Given the description of an element on the screen output the (x, y) to click on. 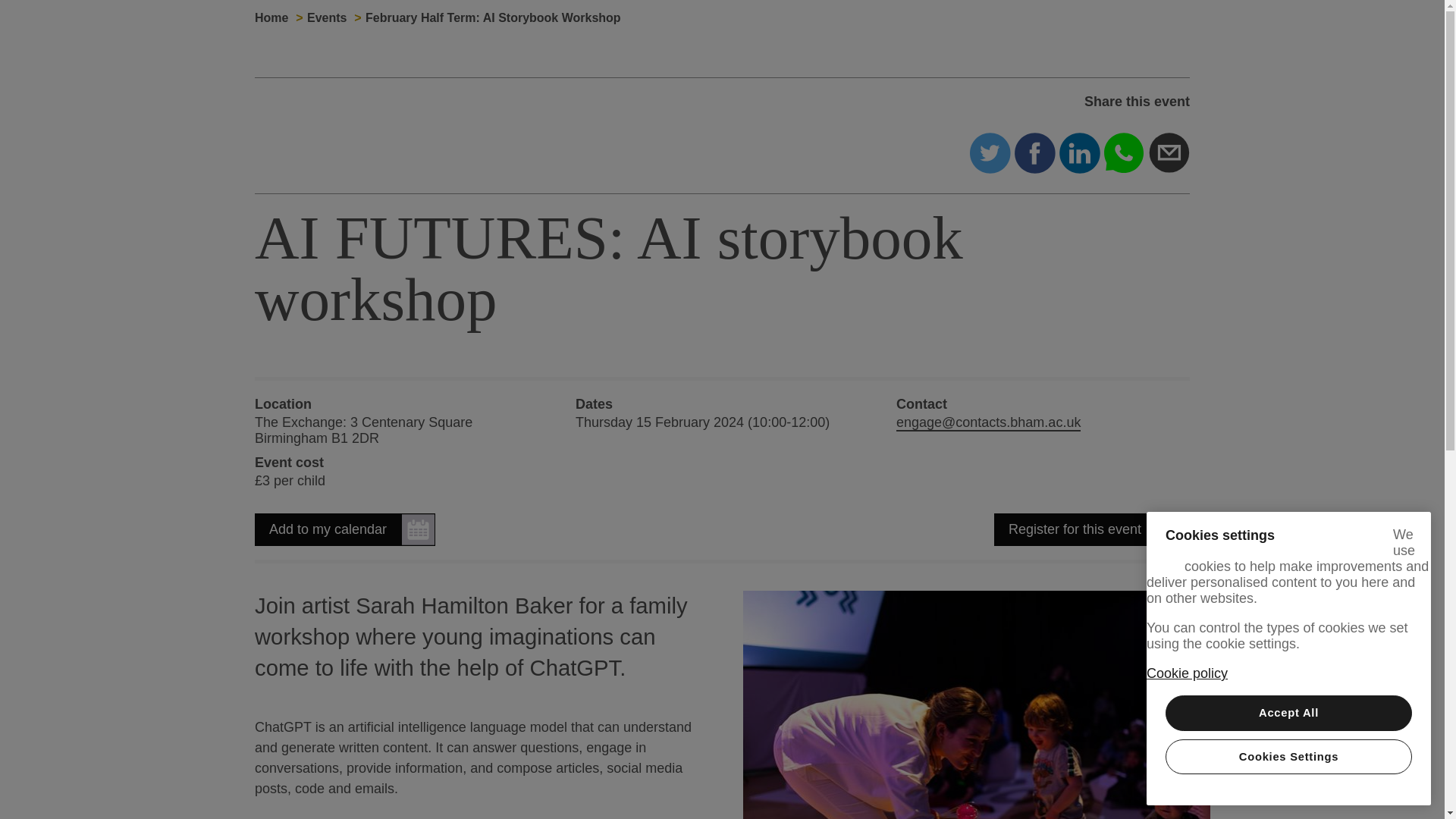
Register for this event (1091, 529)
Share in LinkedIn (1079, 152)
Cookie policy (1187, 672)
Share on Twitter (989, 152)
Share on email (1168, 152)
Cookies Settings (1289, 756)
February Half Term: AI Storybook Workshop (493, 18)
Share on Facebook (1034, 152)
Home (271, 18)
Share on WhatsApp (1123, 152)
